Given the description of an element on the screen output the (x, y) to click on. 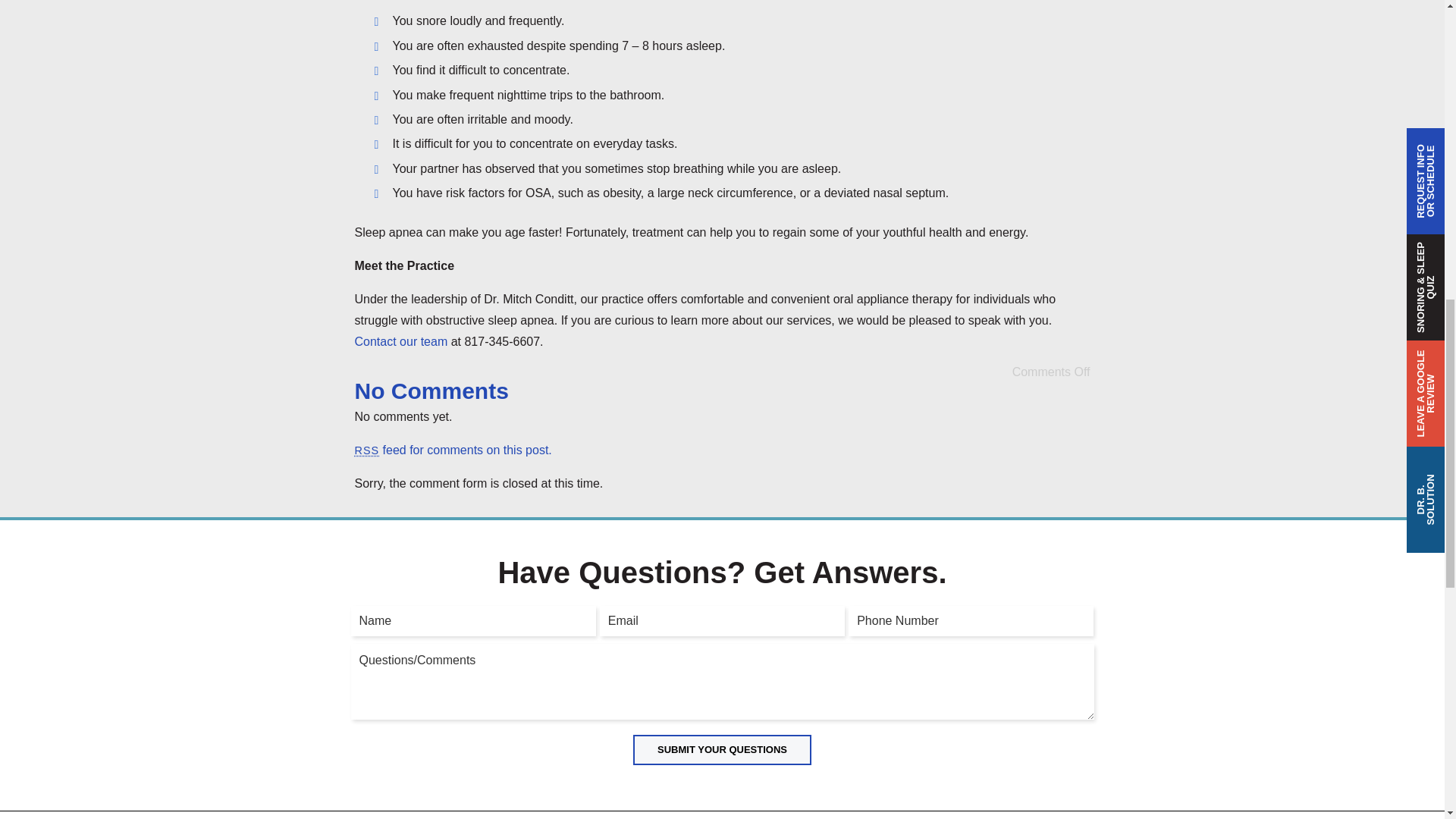
Submit Your Questions (721, 749)
